Given the description of an element on the screen output the (x, y) to click on. 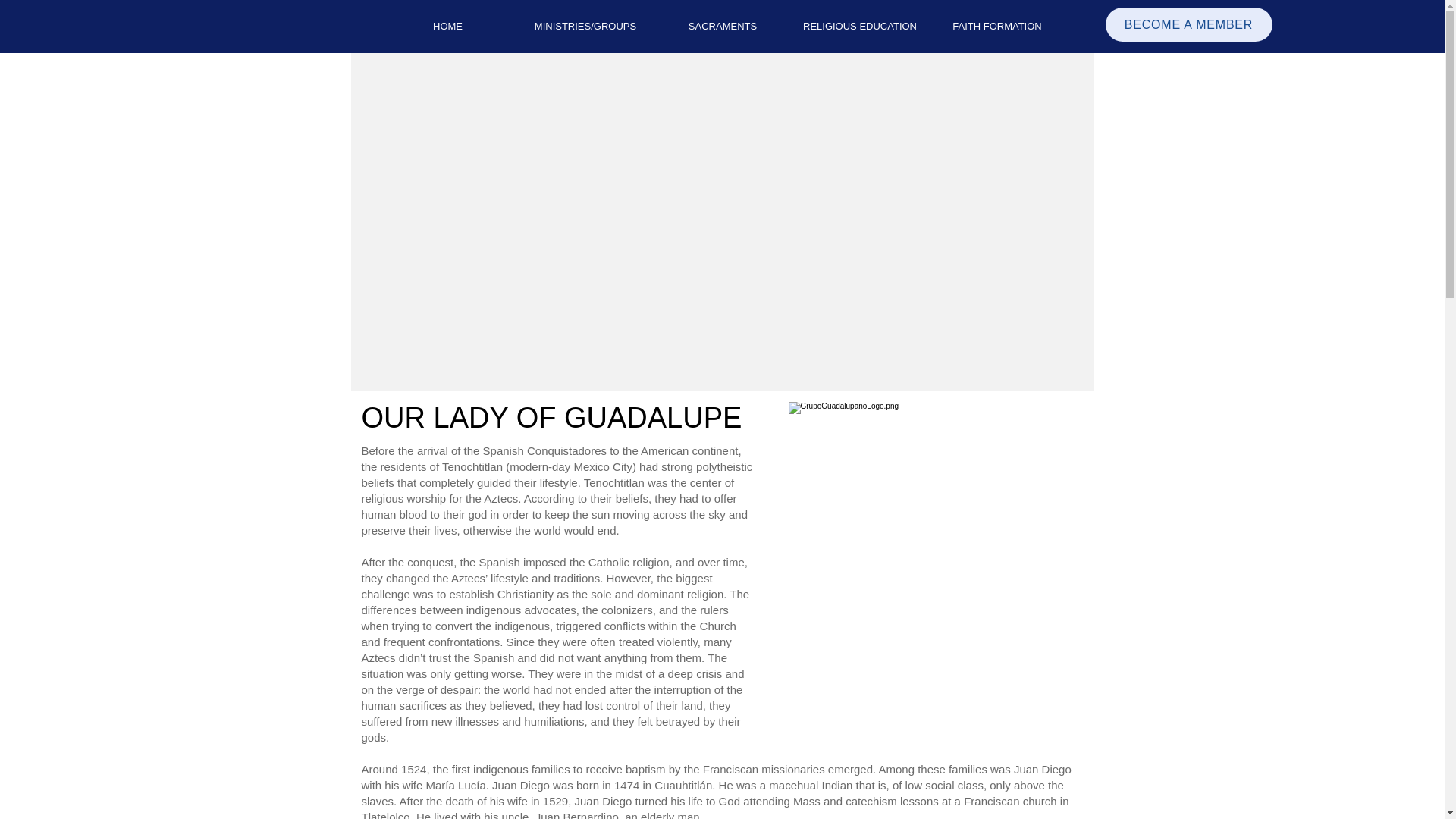
RELIGIOUS EDUCATION (860, 26)
BECOME A MEMBER (1188, 24)
FAITH FORMATION (996, 26)
HOME (447, 26)
